Given the description of an element on the screen output the (x, y) to click on. 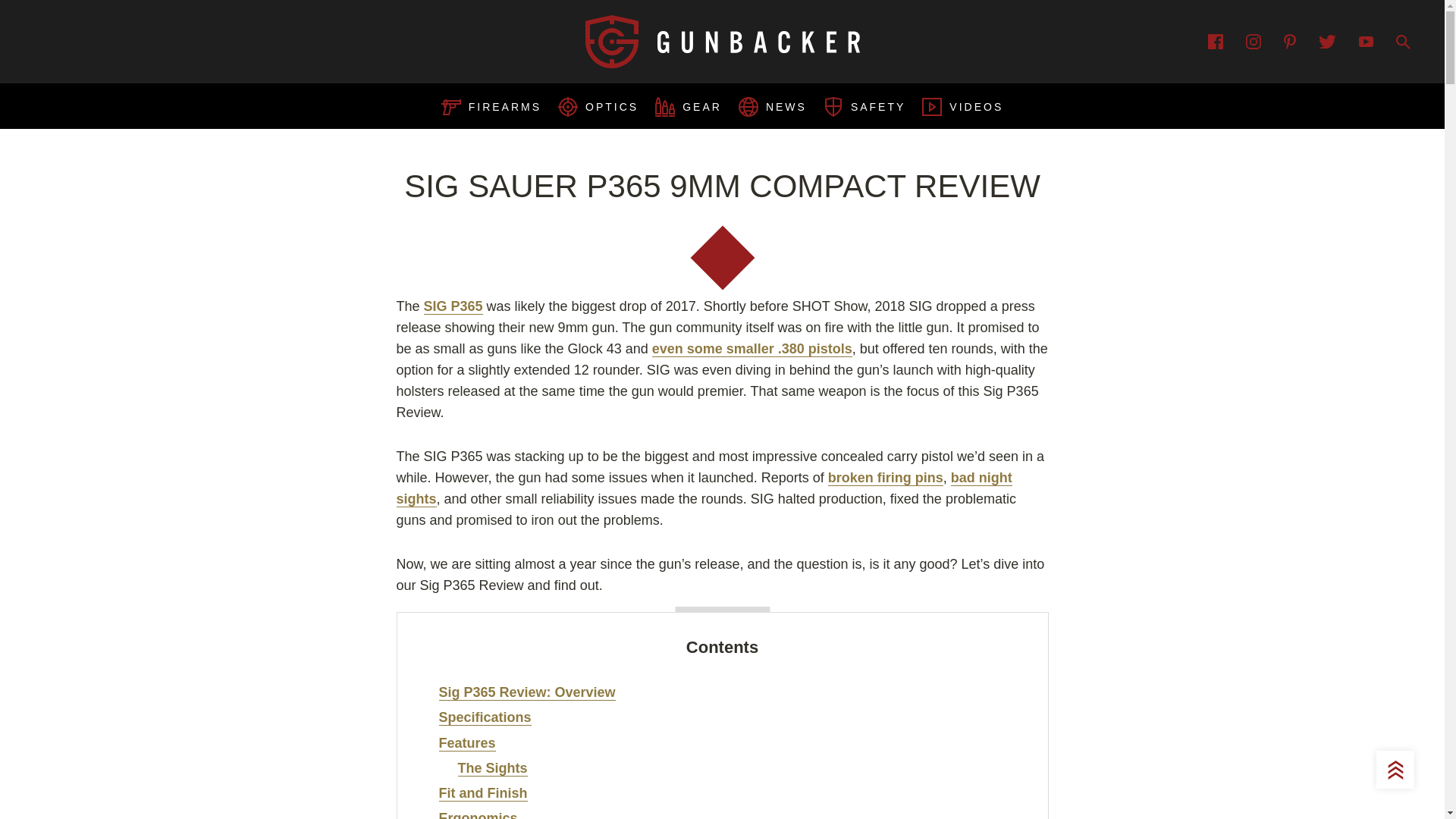
VIDEOS (931, 106)
GLOBE (748, 107)
SHIELD (833, 107)
BULLETS (665, 107)
GUN (491, 105)
BULLSEYE (451, 106)
